Given the description of an element on the screen output the (x, y) to click on. 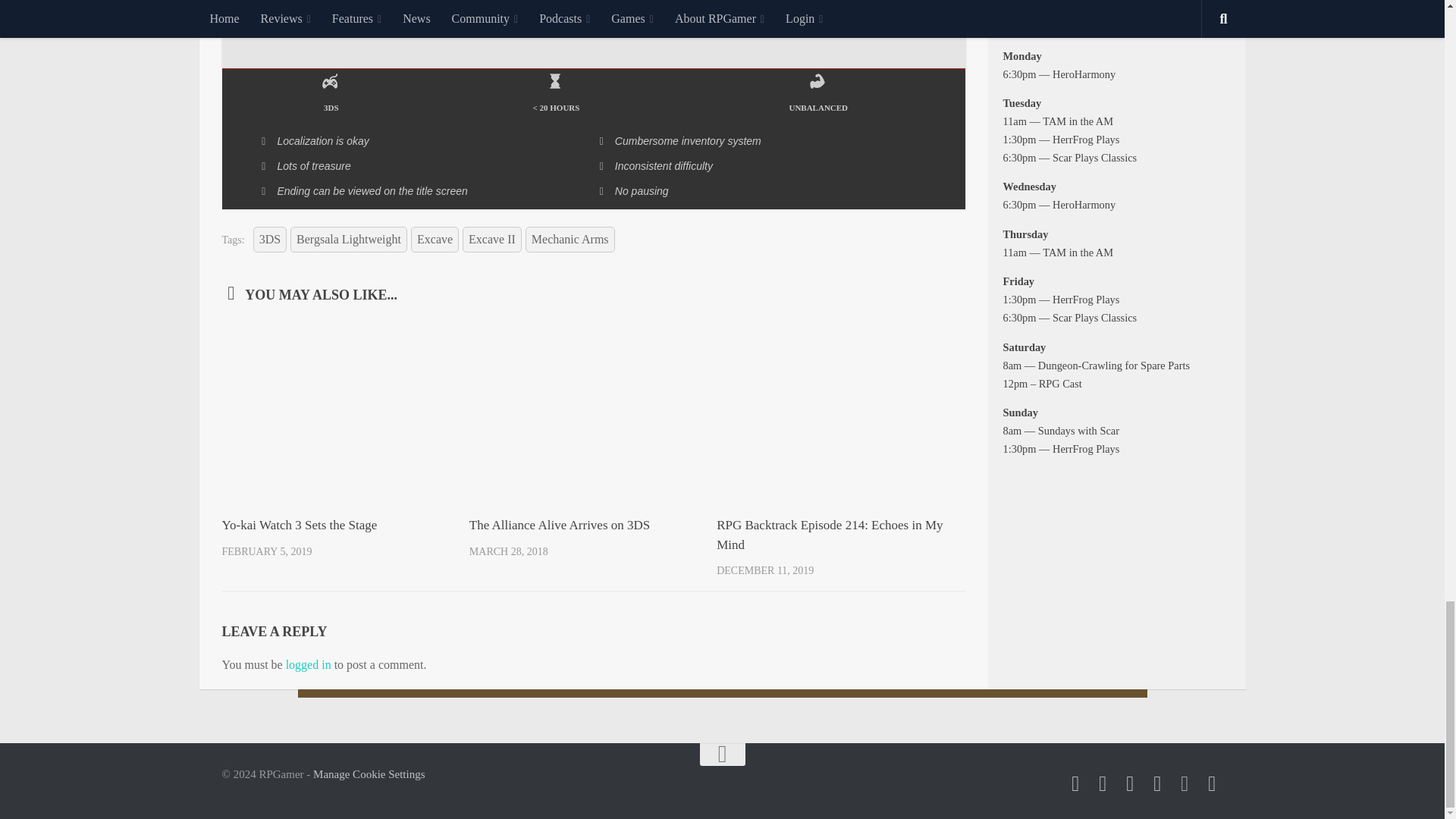
Follow us on Twitter (1075, 783)
Follow us on Youtube (1129, 783)
Follow us on Facebook (1102, 783)
